Given the description of an element on the screen output the (x, y) to click on. 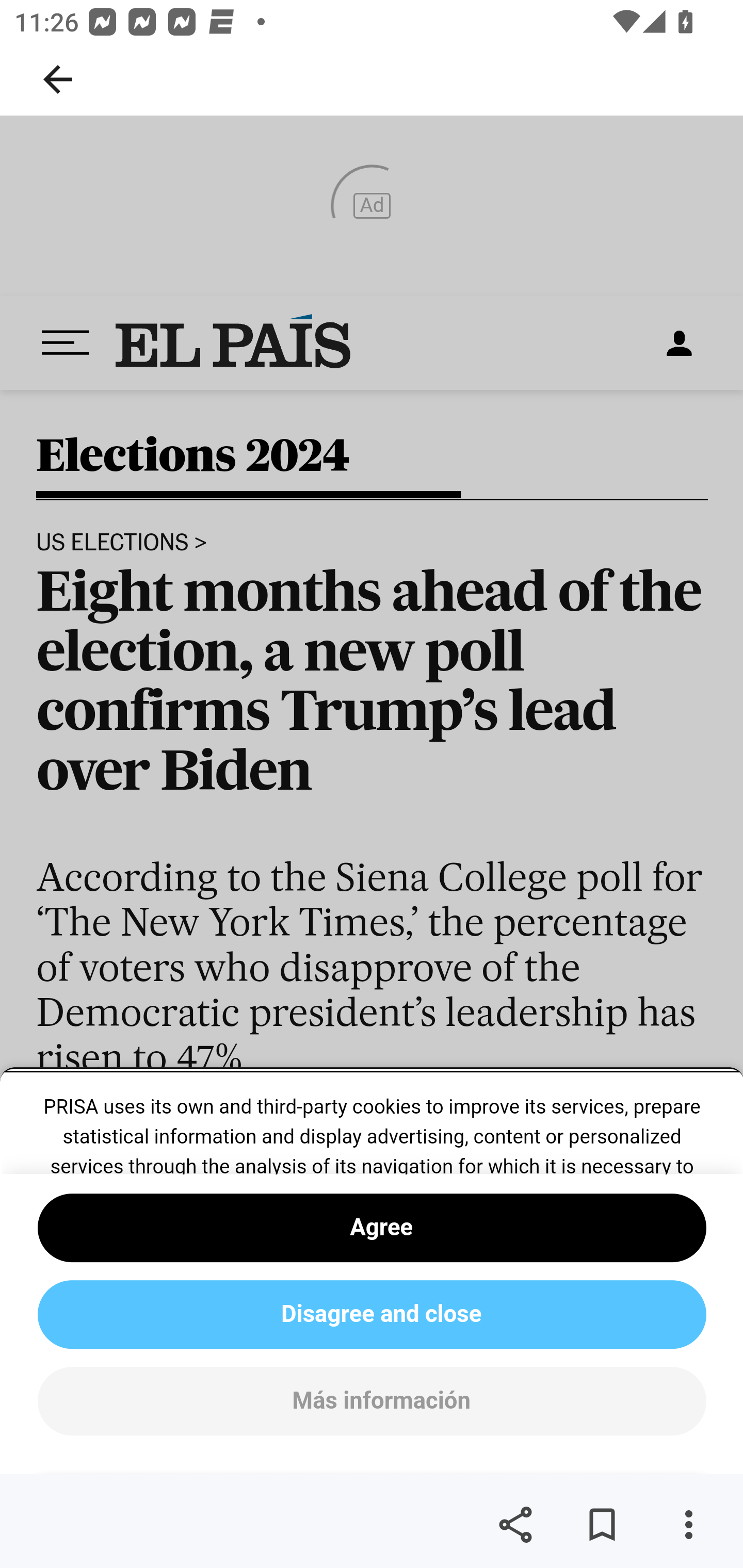
Navigate up (57, 79)
Share (514, 1524)
Save for later (601, 1524)
More options (688, 1524)
